Given the description of an element on the screen output the (x, y) to click on. 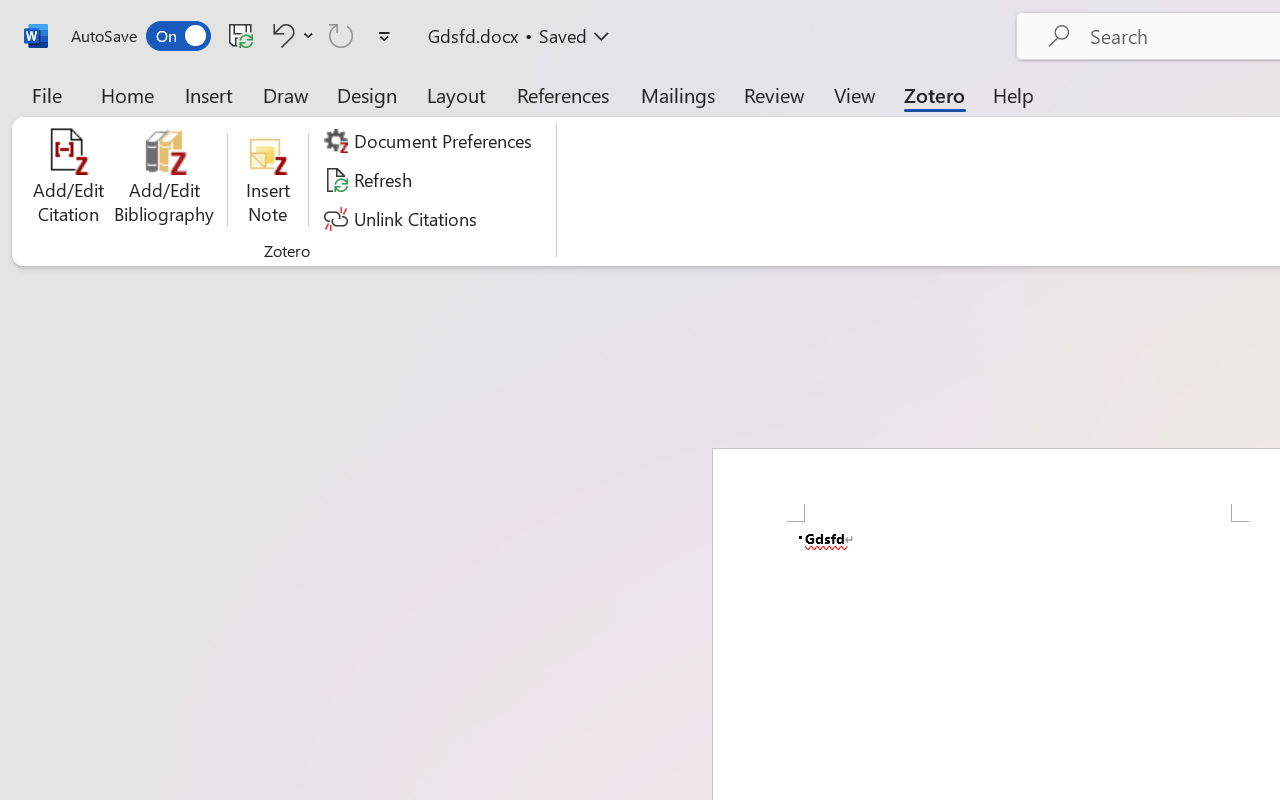
Can't Repeat (341, 35)
Unlink Citations (403, 218)
Add/Edit Citation (68, 179)
Add/Edit Bibliography (164, 179)
Undo <ApplyStyleToDoc>b__0 (290, 35)
